Given the description of an element on the screen output the (x, y) to click on. 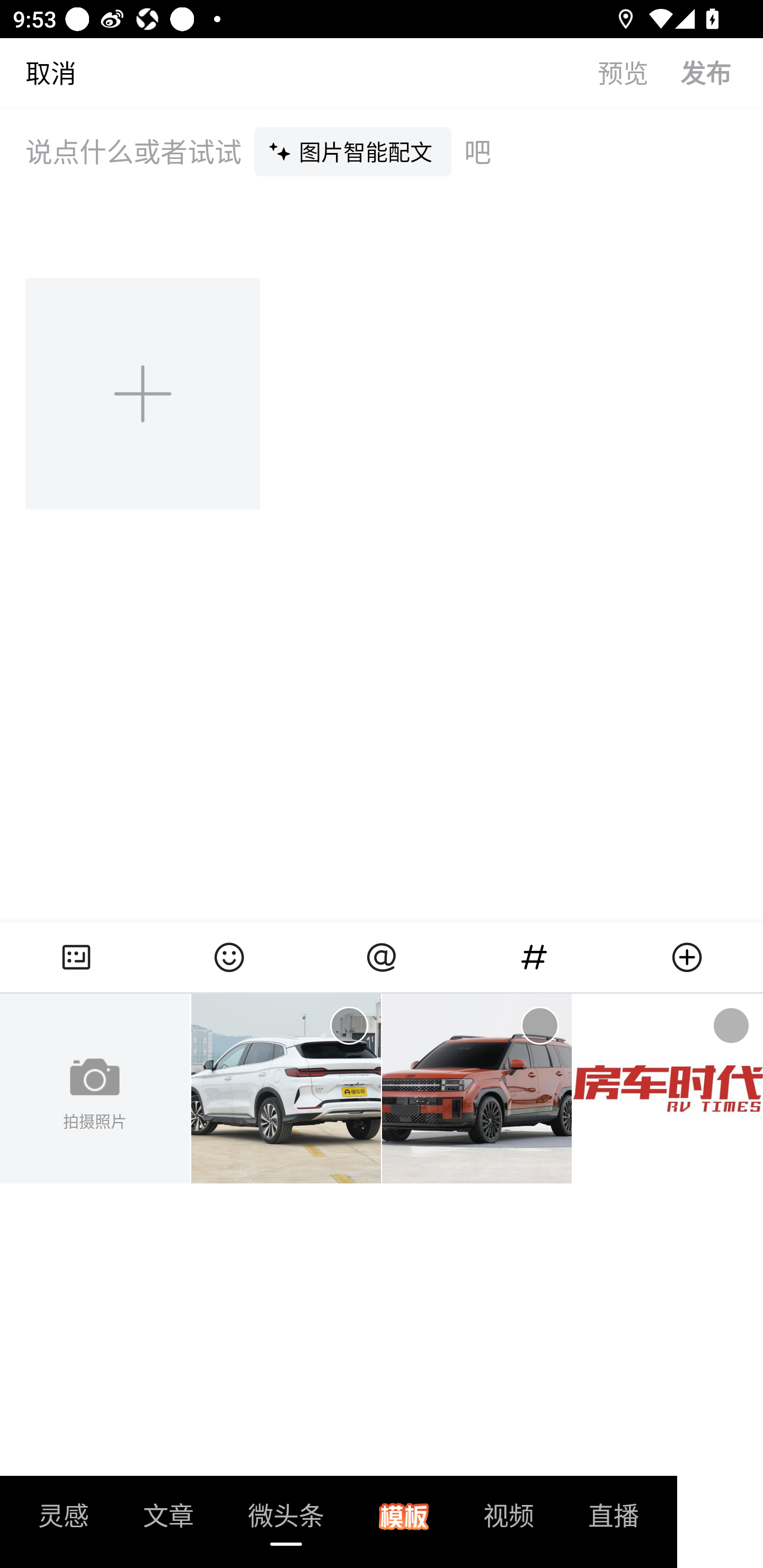
取消 (38, 71)
预览 (638, 71)
发布 (721, 71)
图片智能配文 (352, 151)
添加图片 (144, 393)
相册 (76, 956)
表情 (228, 956)
at (381, 956)
话题 (533, 956)
更多 (686, 956)
拍摄照片 (94, 1088)
图片1 (285, 1088)
未选中 (348, 1025)
图片2 (476, 1088)
未选中 (539, 1025)
图片3 (668, 1088)
未选中 (731, 1025)
灵感 (63, 1521)
文章 (168, 1521)
微头条 (285, 1521)
视频 (508, 1521)
直播 (613, 1521)
